Given the description of an element on the screen output the (x, y) to click on. 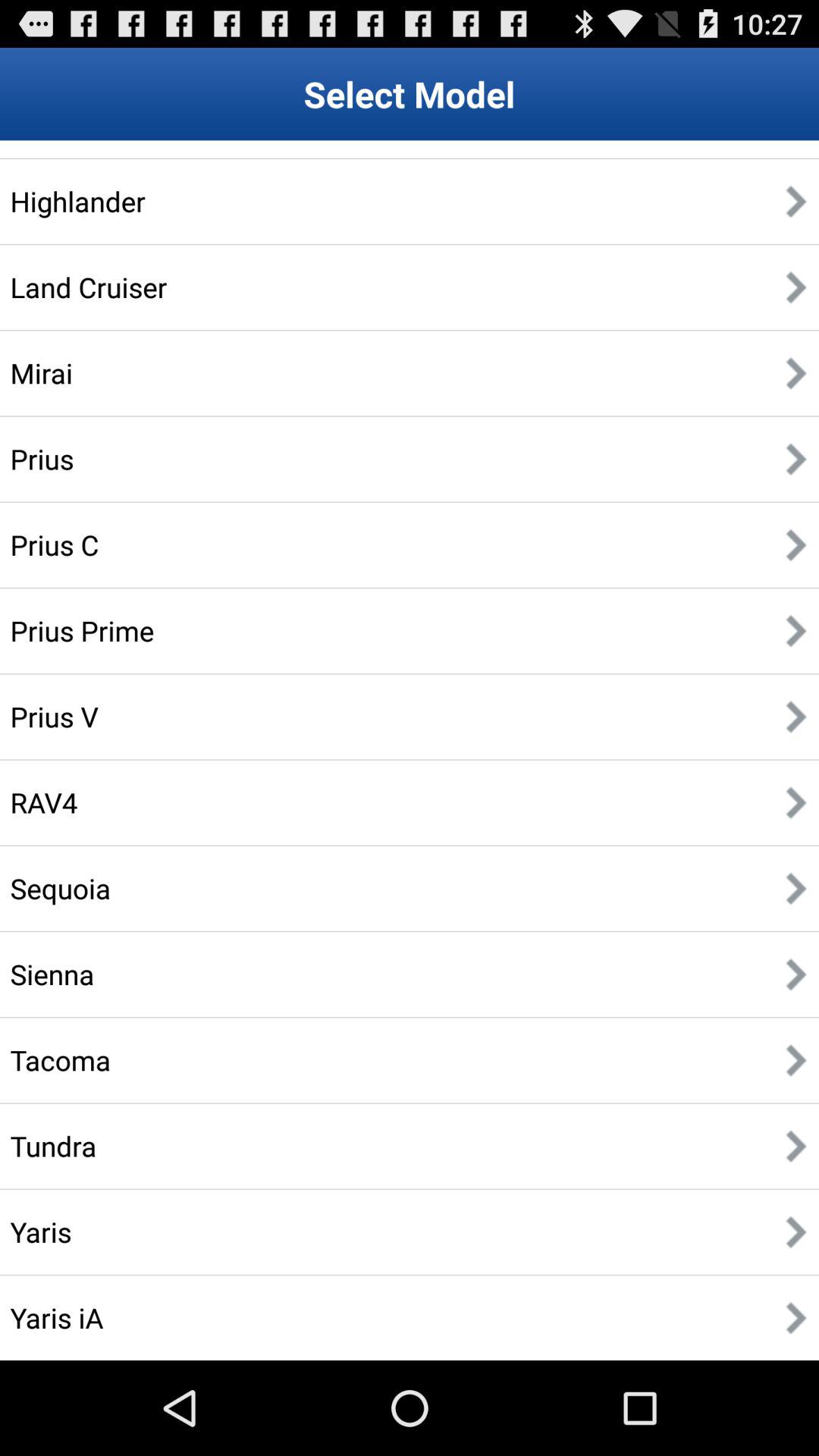
open icon above the prius v item (82, 630)
